Given the description of an element on the screen output the (x, y) to click on. 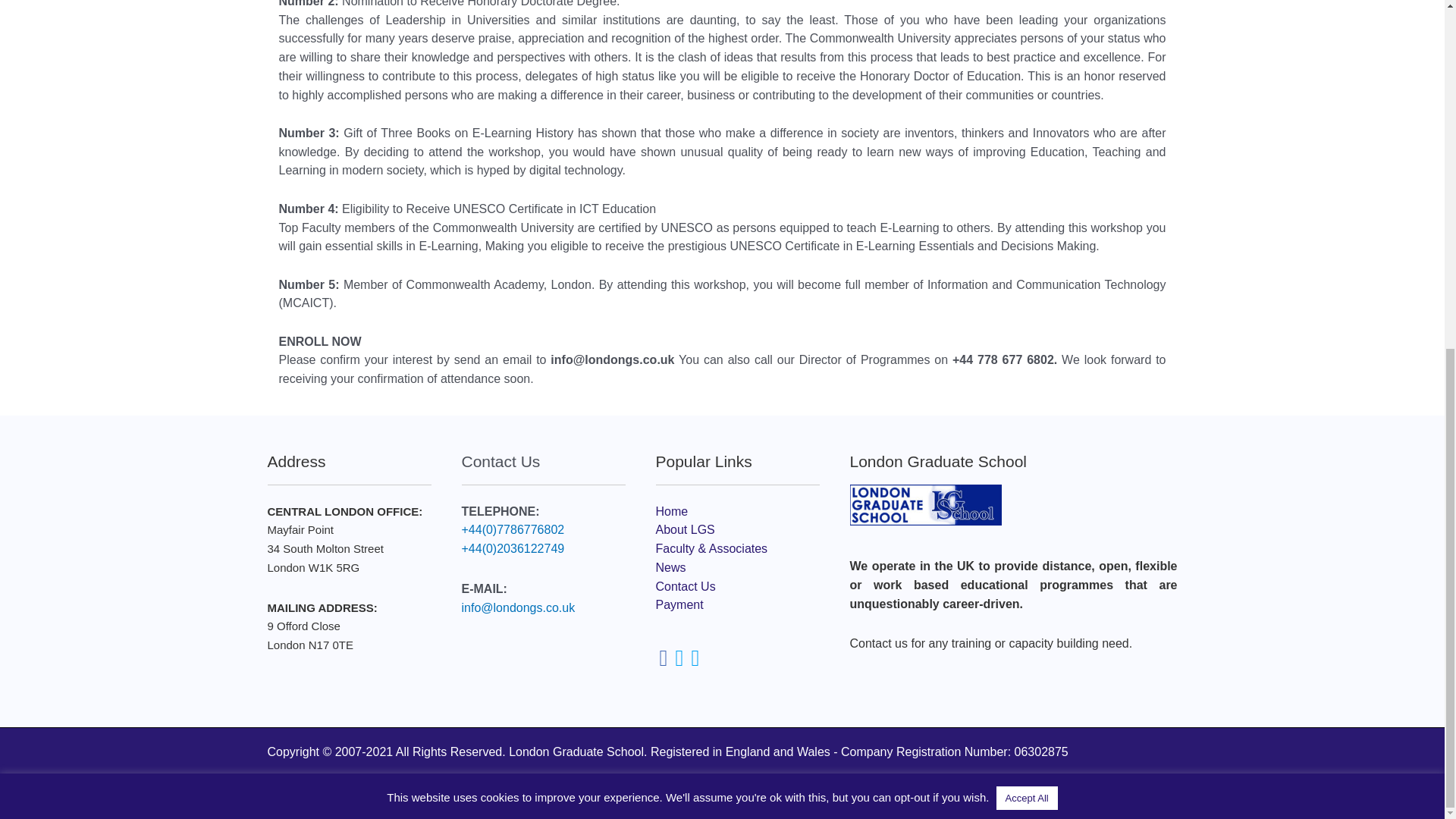
London Graduate School (924, 504)
